Given the description of an element on the screen output the (x, y) to click on. 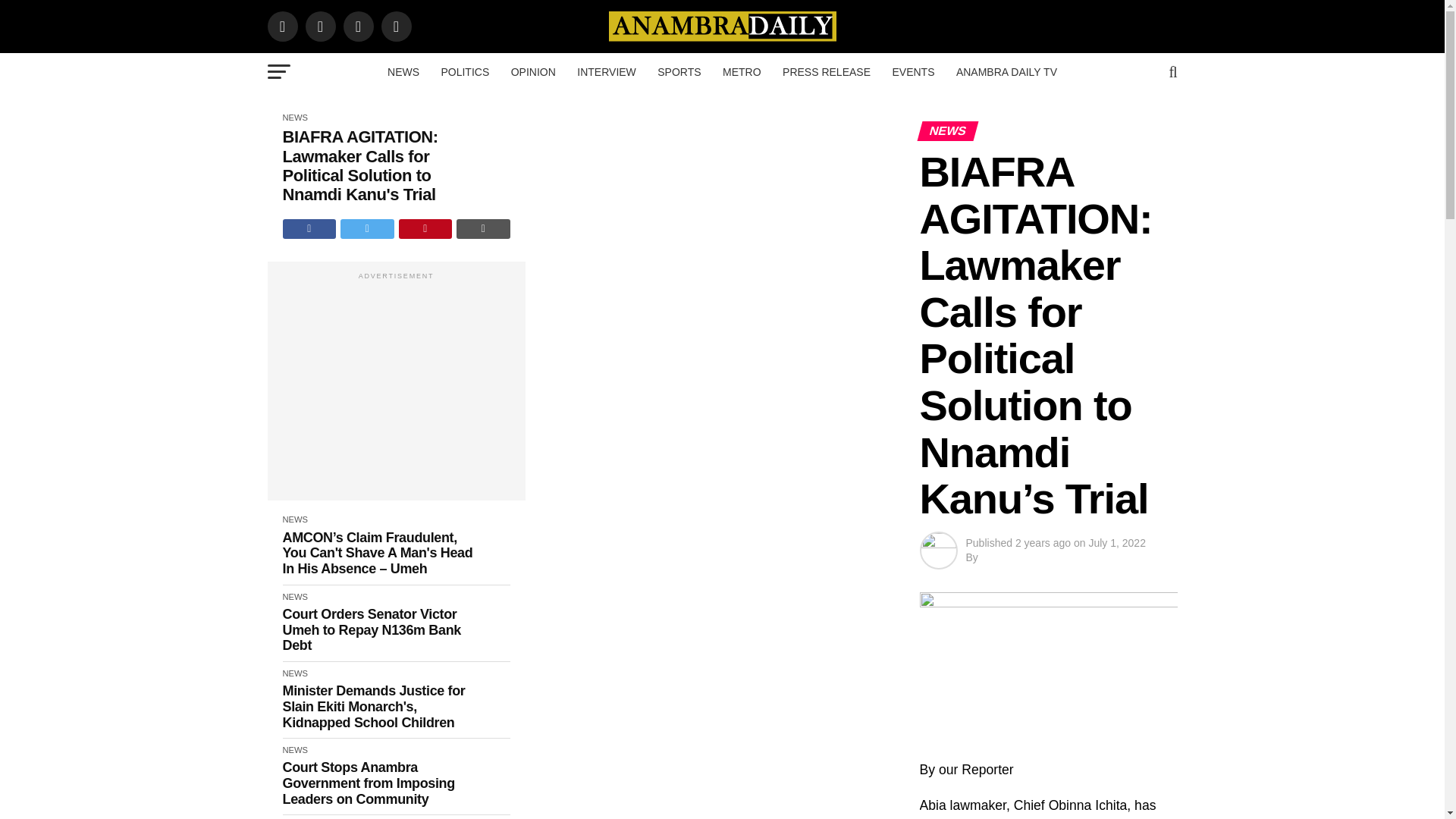
Pin This Post (425, 229)
NEWS (403, 71)
Advertisement (395, 388)
OPINION (533, 71)
Tweet This Post (367, 229)
Share on Facebook (309, 229)
POLITICS (463, 71)
